Given the description of an element on the screen output the (x, y) to click on. 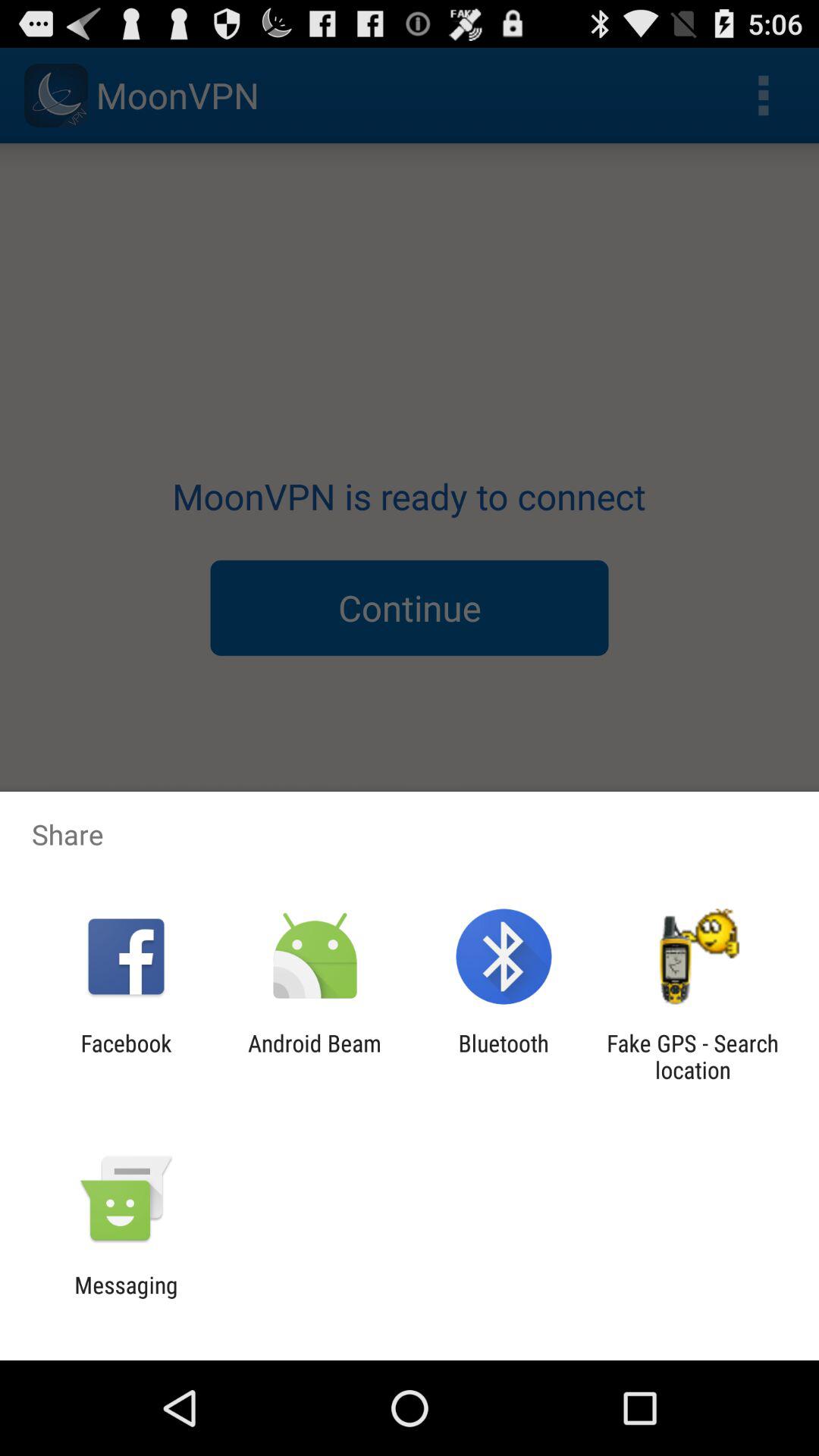
scroll to messaging app (126, 1298)
